Given the description of an element on the screen output the (x, y) to click on. 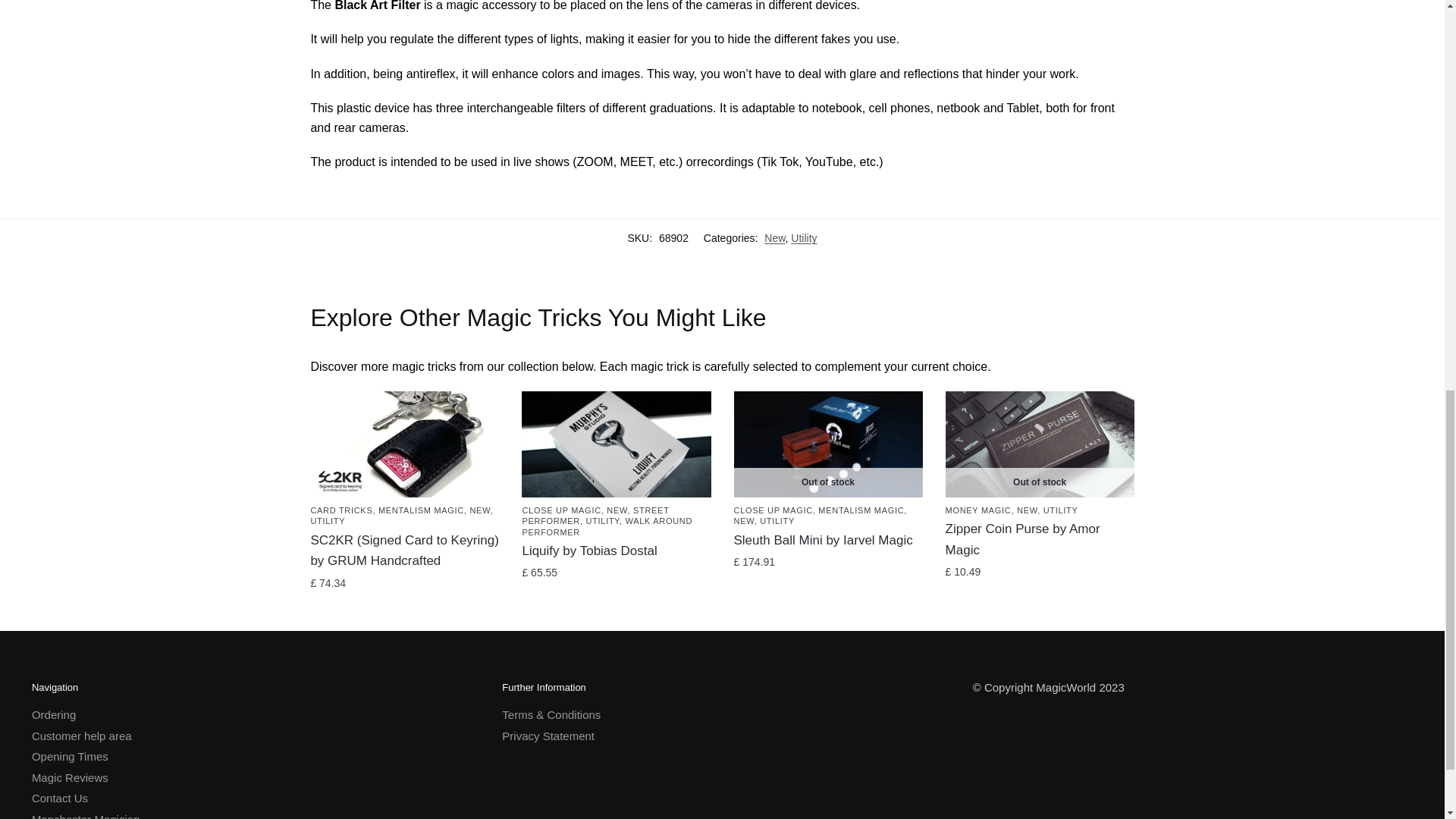
Liquify by Tobias Dostal (615, 444)
Sleuth Ball Mini by Iarvel Magic (828, 444)
Zipper Coin Purse by Amor Magic (1039, 444)
